Given the description of an element on the screen output the (x, y) to click on. 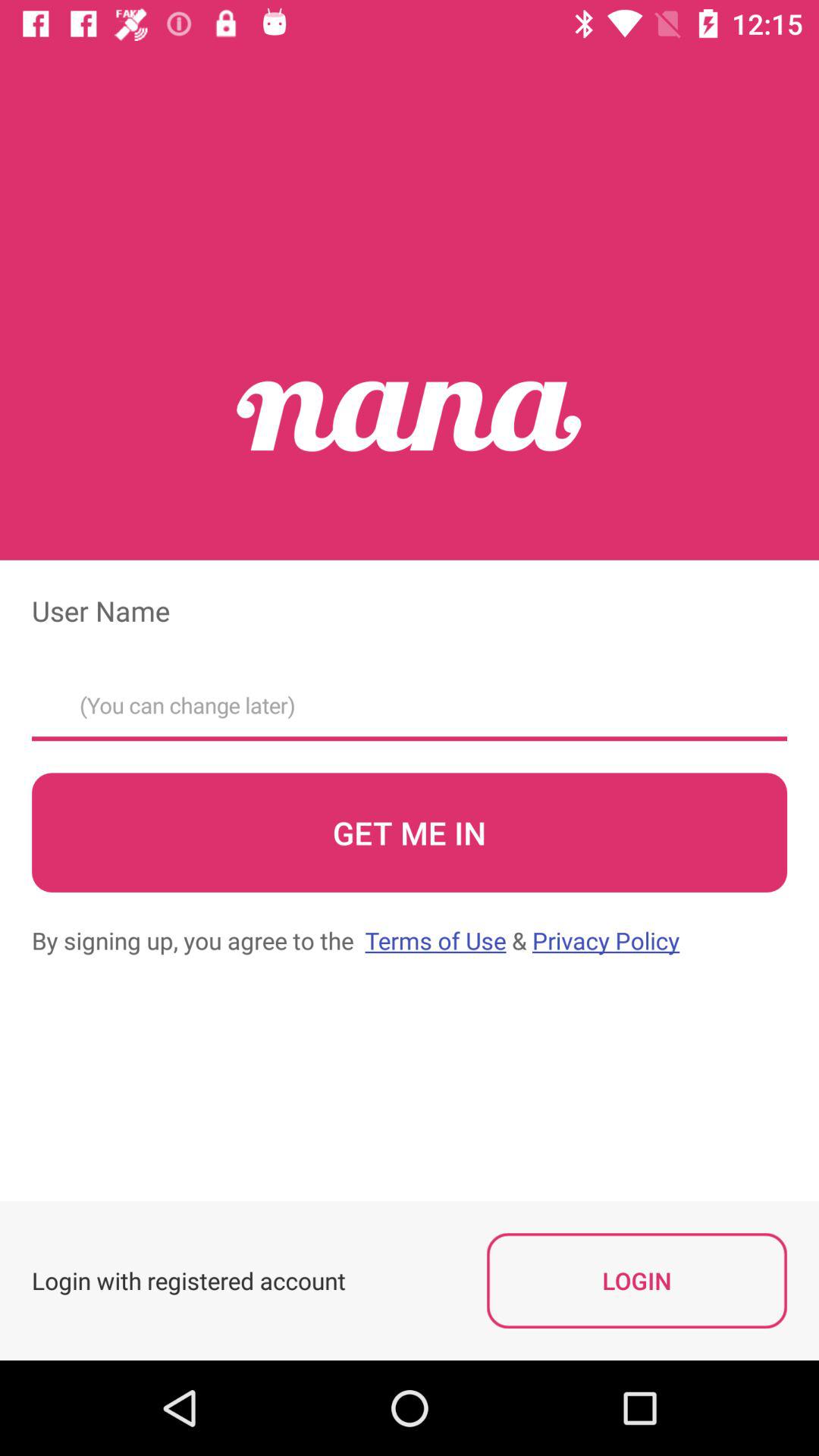
username text field (409, 701)
